Given the description of an element on the screen output the (x, y) to click on. 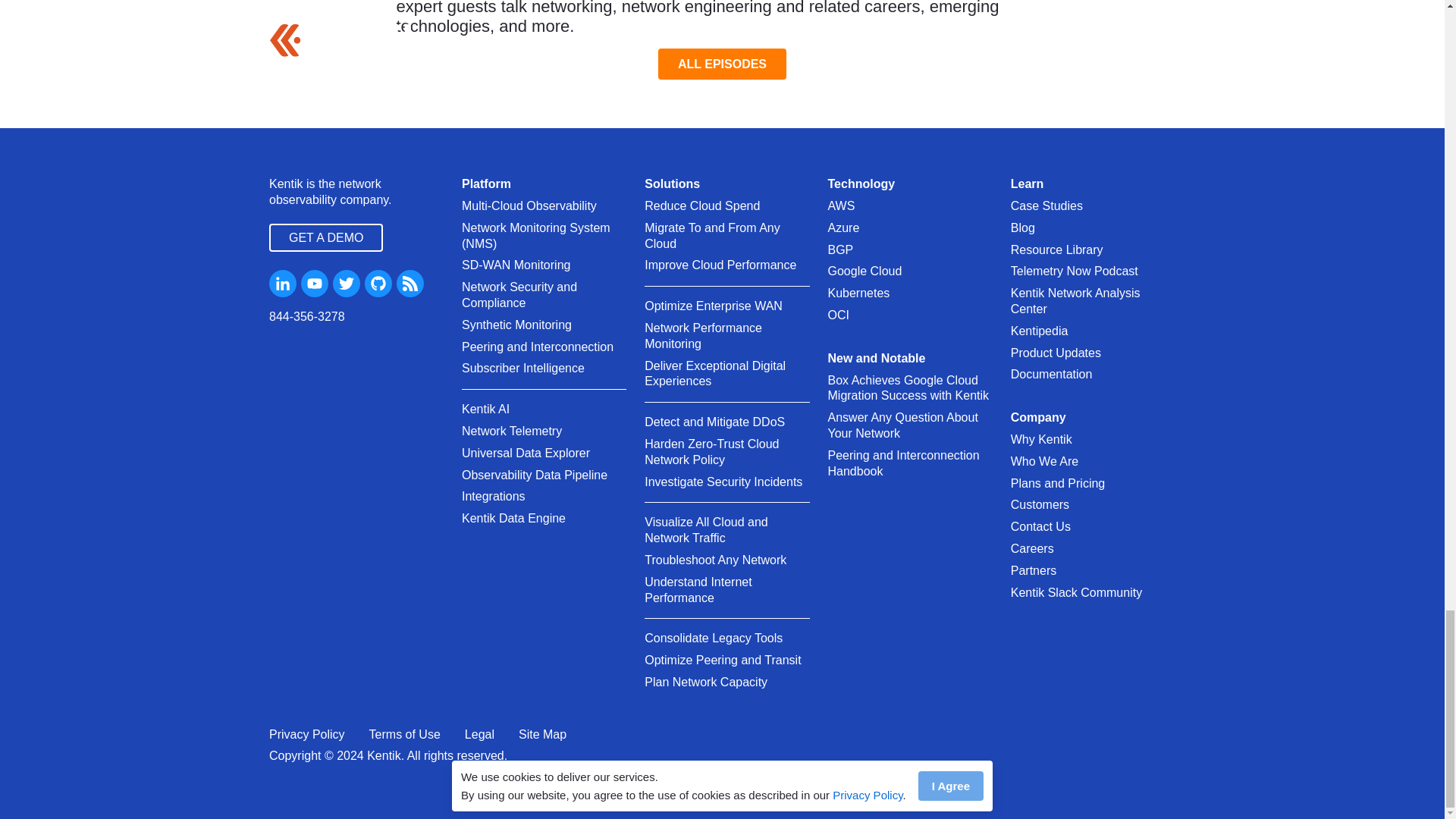
LinkdIn (283, 283)
Network Telemetry (511, 431)
Twitter (346, 283)
Kentik Data Engine (513, 519)
GET A DEMO (325, 237)
Subscriber Intelligence (523, 368)
Network Observability by Kentik (356, 192)
Network Security and Compliance (543, 296)
Universal Data Explorer (525, 453)
ALL EPISODES (722, 63)
Kentik AI (485, 409)
Synthetic Monitoring (516, 325)
Peering and Interconnection (536, 347)
Youtube (315, 283)
Kentik is the network observability company. (356, 192)
